Given the description of an element on the screen output the (x, y) to click on. 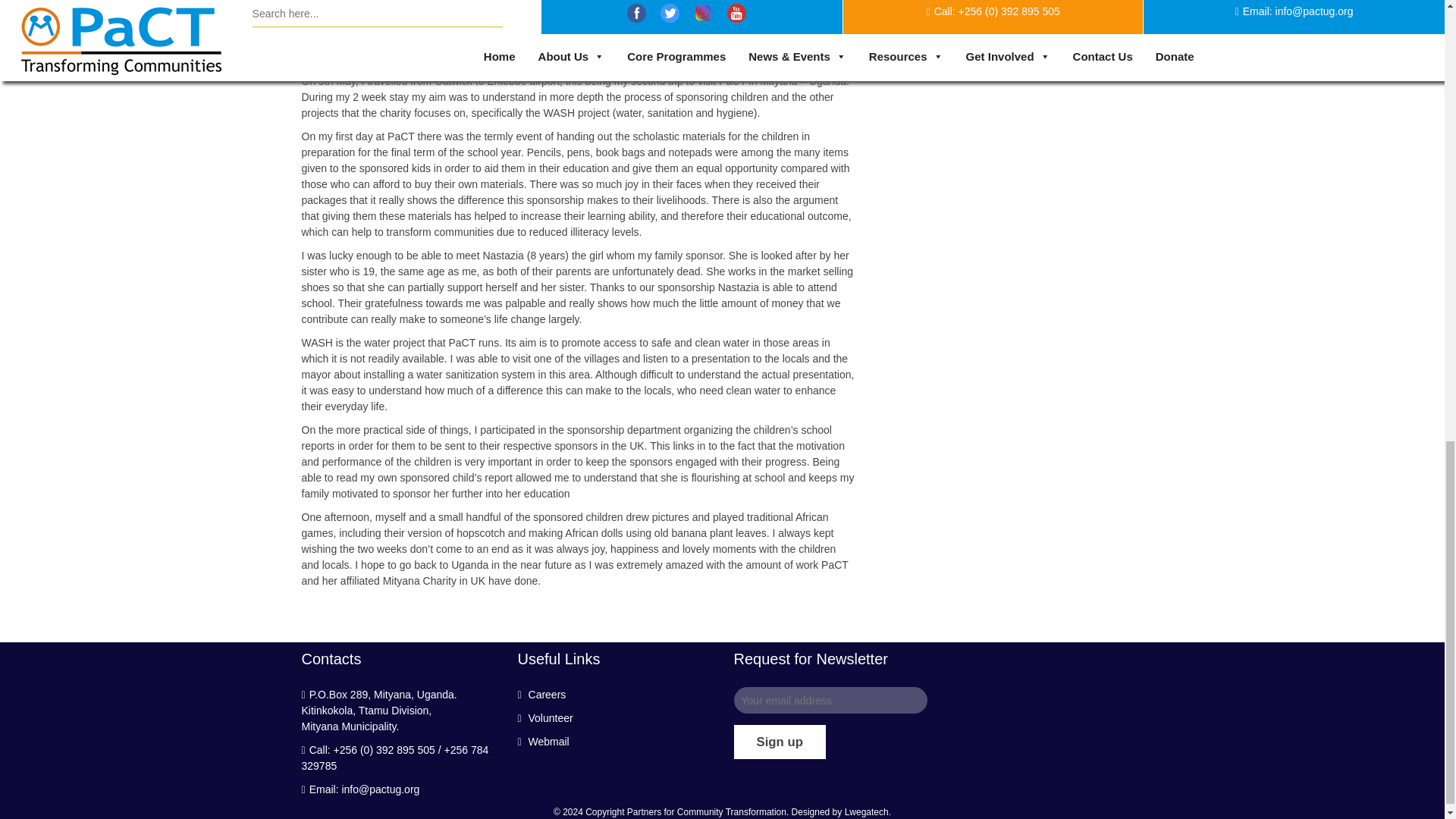
Volunteer (544, 717)
Lwegatech (866, 811)
The lucky one! (506, 10)
Lwegatech (866, 811)
Sign up (780, 741)
Careers (541, 694)
Sign up (780, 741)
Webmail (542, 741)
